Given the description of an element on the screen output the (x, y) to click on. 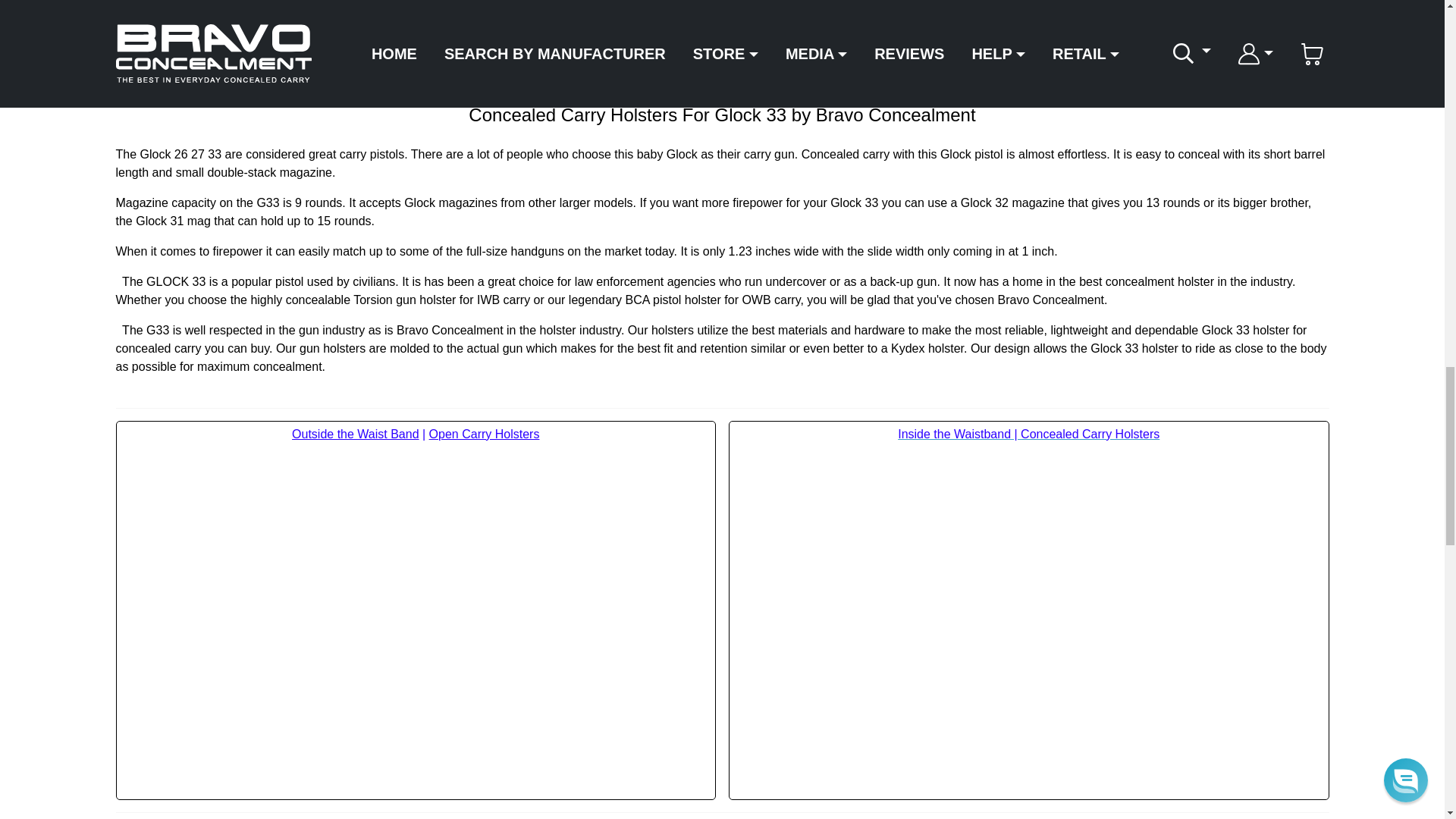
OWB Concealed Carry Gun Holsters (484, 433)
OWB Concealed Carry Gun Holsters (355, 433)
